Given the description of an element on the screen output the (x, y) to click on. 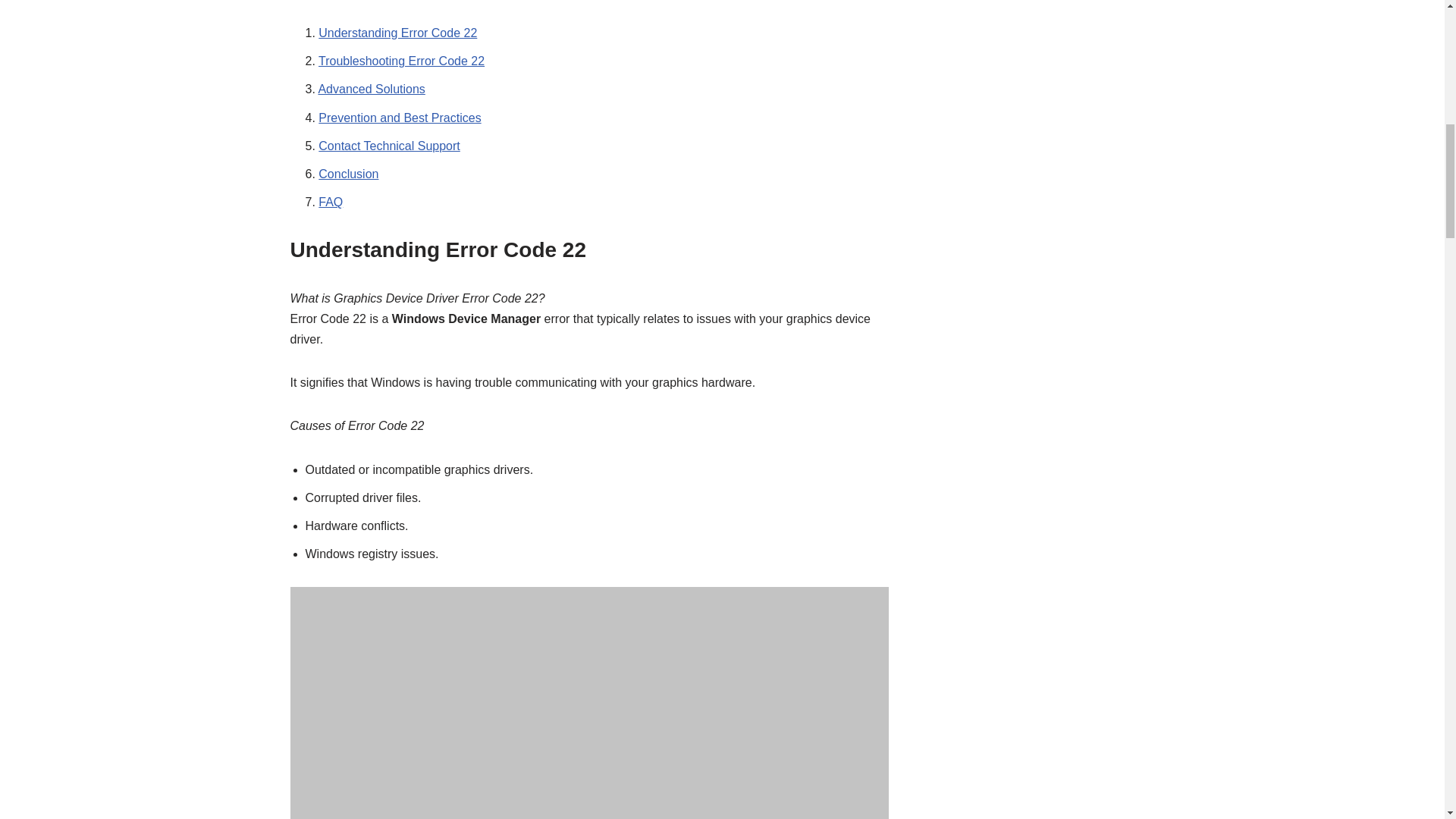
Understanding Error Code 22 (397, 32)
FAQ (330, 201)
Troubleshooting Error Code 22 (401, 60)
Prevention and Best Practices (399, 117)
Conclusion (348, 173)
Contact Technical Support (389, 145)
Advanced Solutions (371, 88)
